Given the description of an element on the screen output the (x, y) to click on. 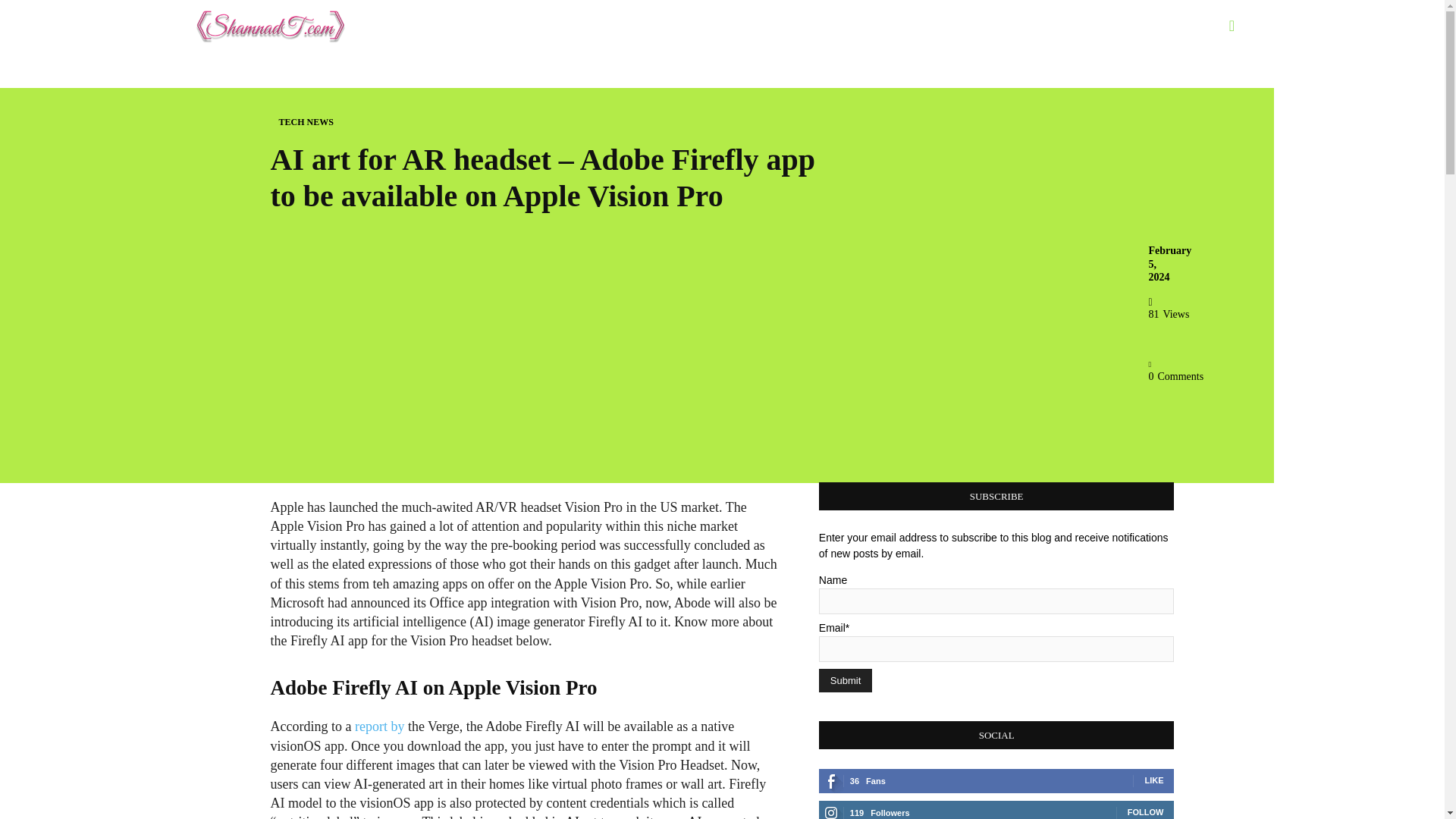
TECH NEWS (306, 122)
0Comments (1176, 369)
Submit (845, 680)
